Given the description of an element on the screen output the (x, y) to click on. 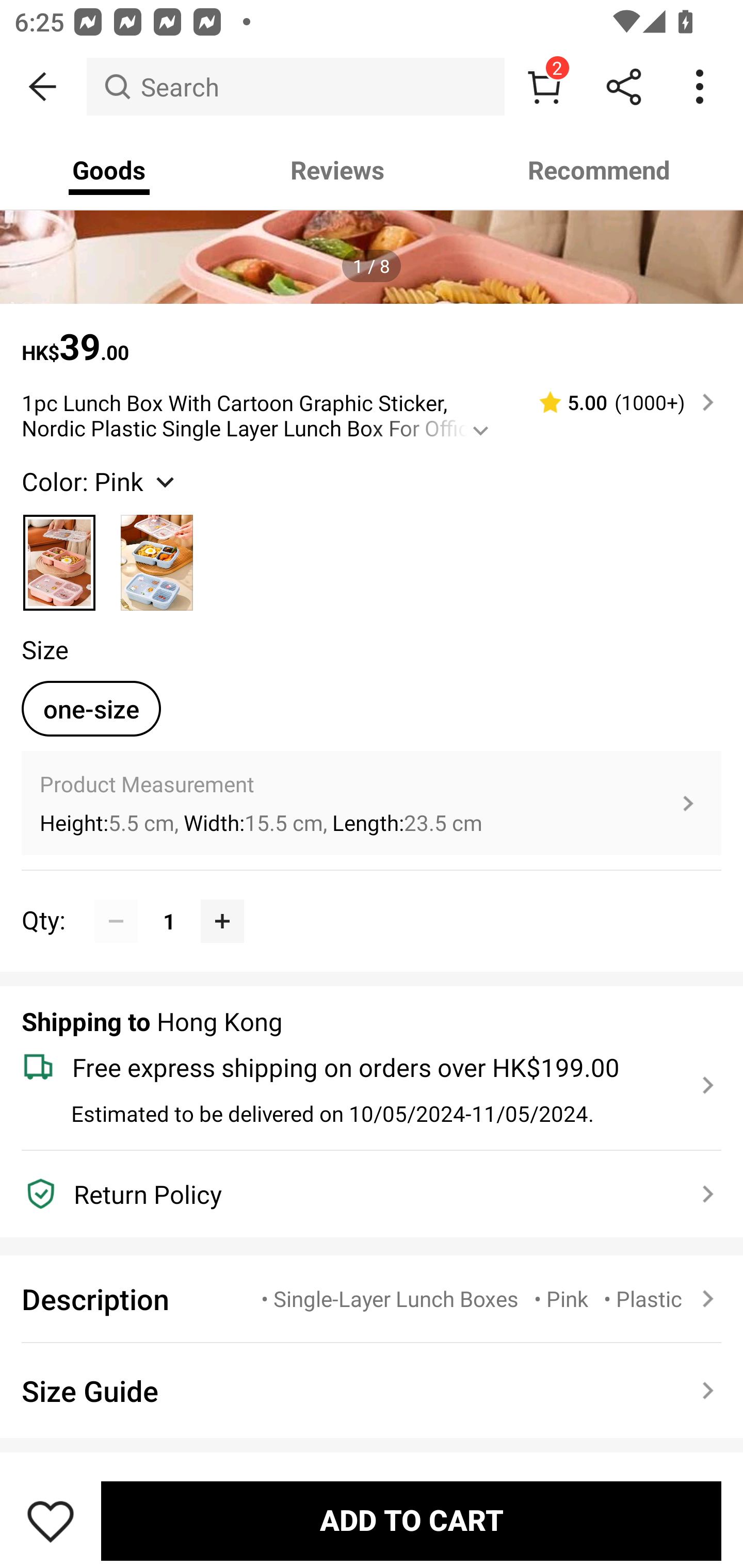
BACK (43, 86)
2 (543, 87)
Search (295, 87)
Goods (109, 170)
PHOTOS 超過1000條正面評价 1 / 8 (371, 217)
Reviews (337, 170)
Recommend (599, 170)
1 / 8 (371, 265)
HK$39.00 (371, 337)
5.00 (1000‎+) (617, 402)
Color: Pink (100, 481)
Pink (59, 553)
Multicolor (156, 553)
Size (44, 648)
one-size one-sizeselected option (91, 708)
Qty: 1 (371, 898)
Return Policy (359, 1193)
Size Guide (371, 1390)
ADD TO CART (411, 1520)
Save (50, 1520)
